Given the description of an element on the screen output the (x, y) to click on. 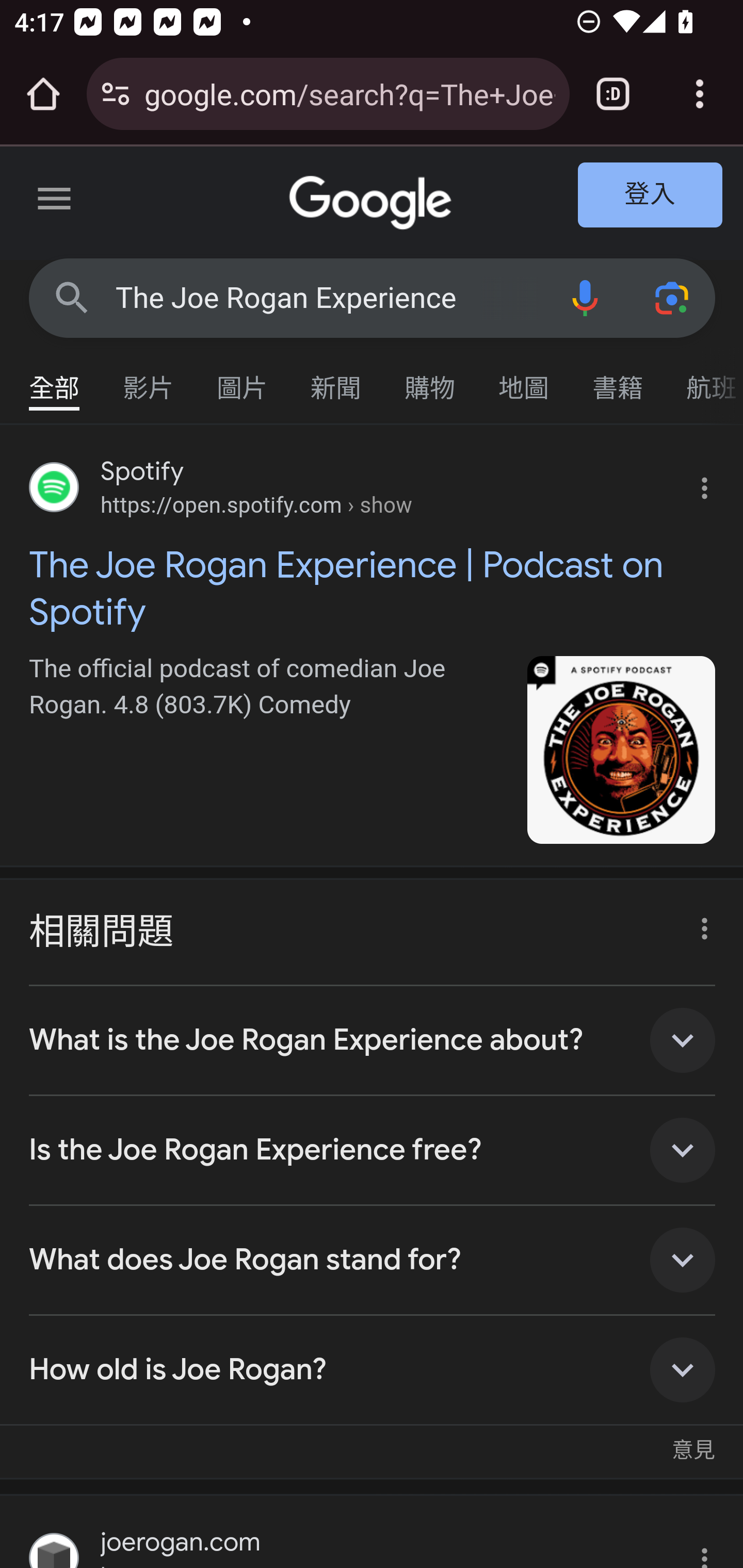
Open the home page (43, 93)
Connection is secure (115, 93)
Switch or close tabs (612, 93)
Customize and control Google Chrome (699, 93)
